Given the description of an element on the screen output the (x, y) to click on. 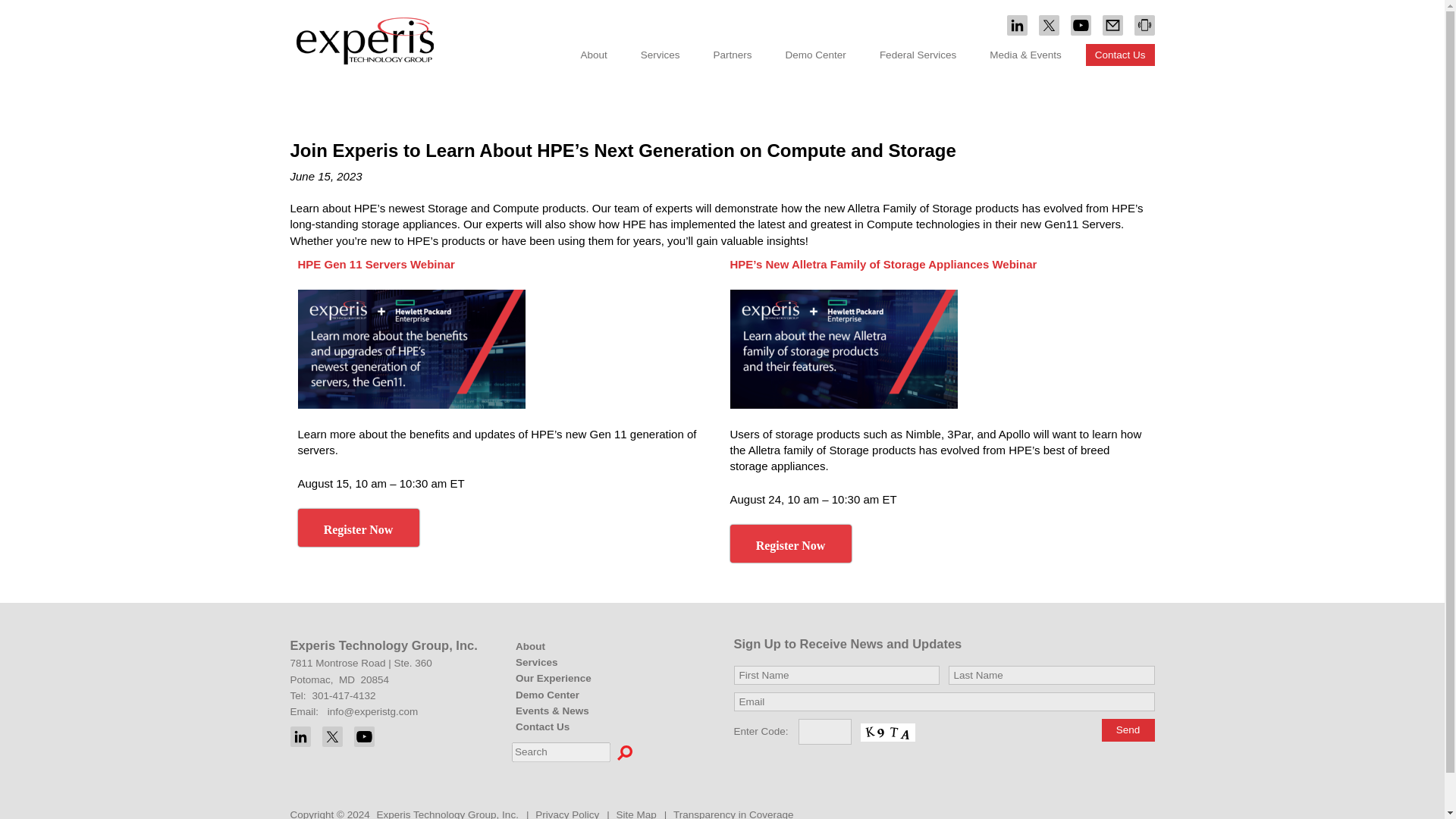
About (593, 54)
LinkedIn (299, 736)
Services (659, 54)
LinkedIn (1017, 25)
YouTube (363, 736)
Send (1127, 730)
Email (1112, 25)
Register Now (358, 527)
Search (624, 752)
Demo Center (816, 54)
YouTube (1080, 25)
Phone (1144, 25)
Partners (732, 54)
Contact Us (1120, 55)
Federal Services (917, 54)
